Given the description of an element on the screen output the (x, y) to click on. 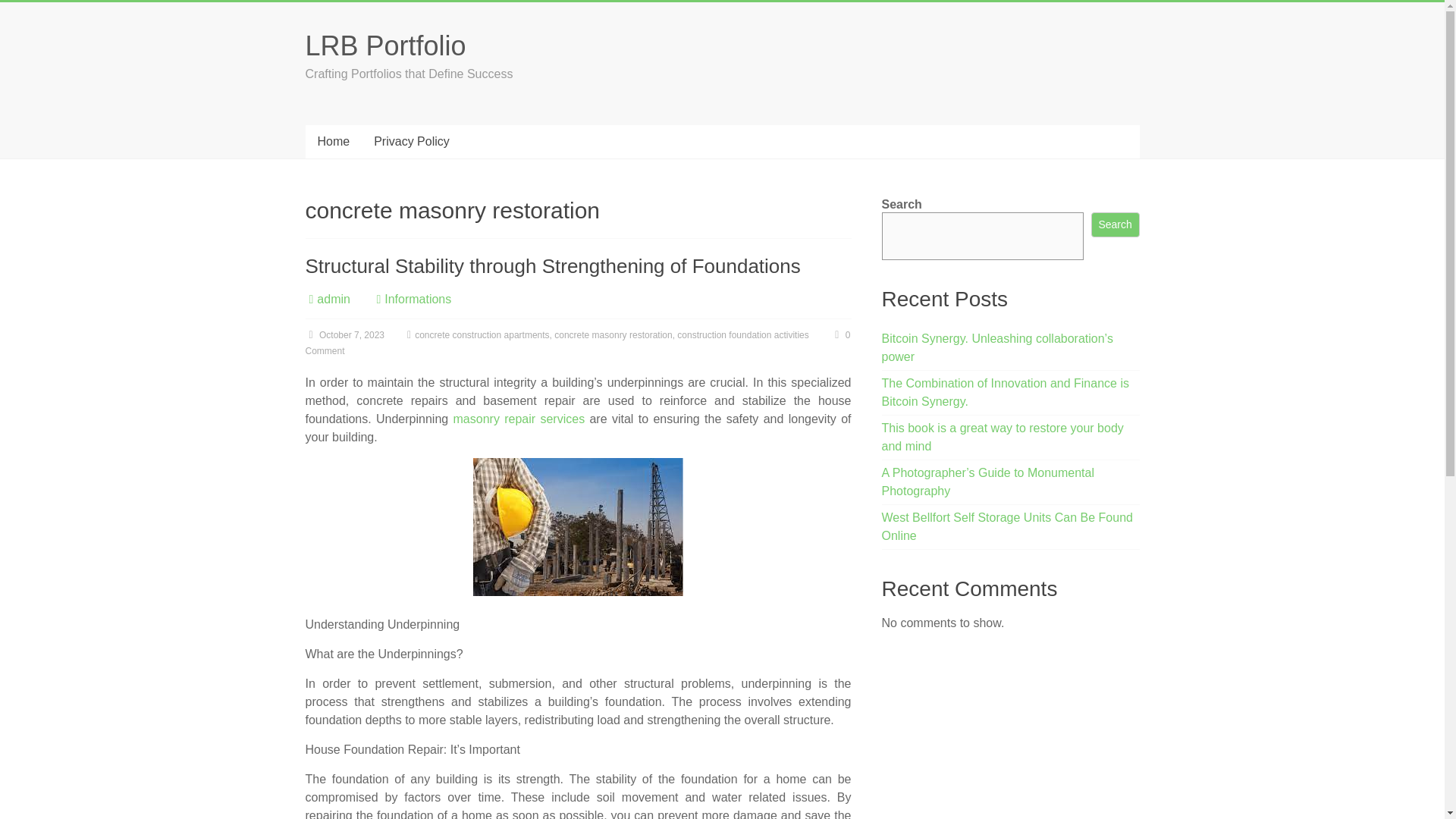
West Bellfort Self Storage Units Can Be Found Online (1007, 526)
Home (332, 141)
Search (1115, 224)
October 7, 2023 (344, 335)
Structural Stability through Strengthening of Foundations (551, 265)
0 Comment (577, 343)
admin (333, 298)
concrete masonry restoration (612, 335)
This book is a great way to restore your body and mind (1003, 436)
